Given the description of an element on the screen output the (x, y) to click on. 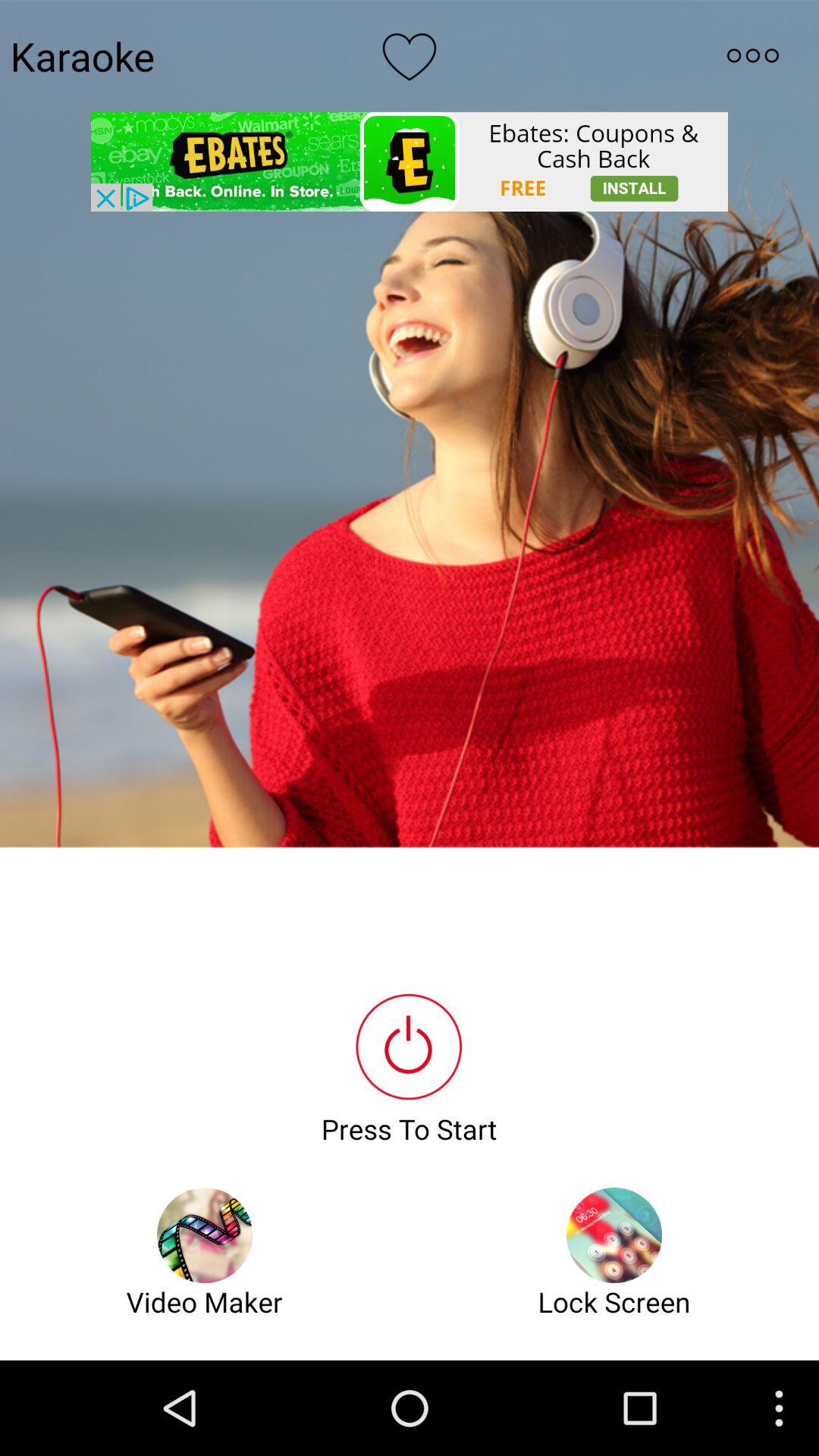
open this option (752, 55)
